Given the description of an element on the screen output the (x, y) to click on. 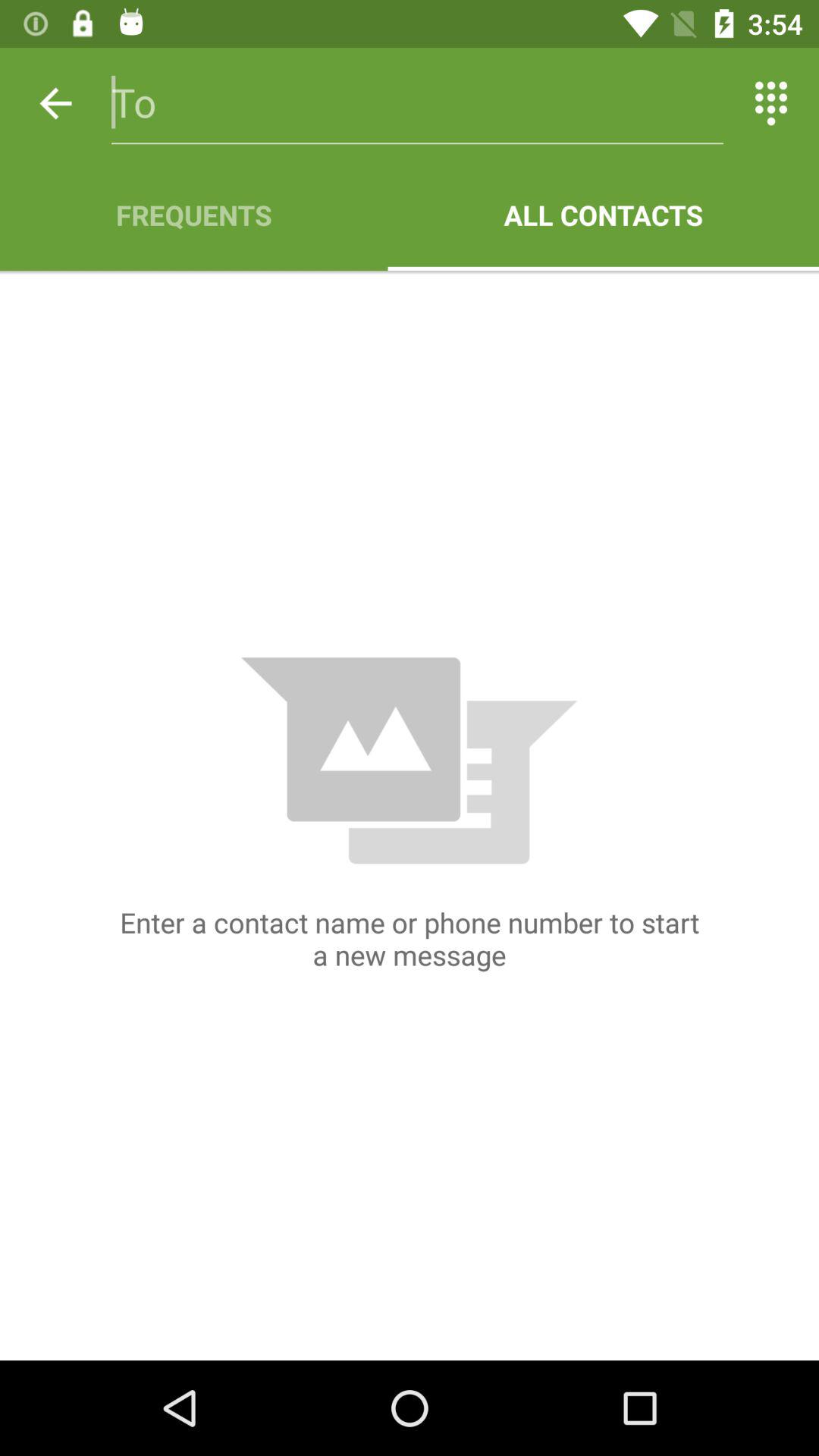
choose icon above the frequents (417, 103)
